Given the description of an element on the screen output the (x, y) to click on. 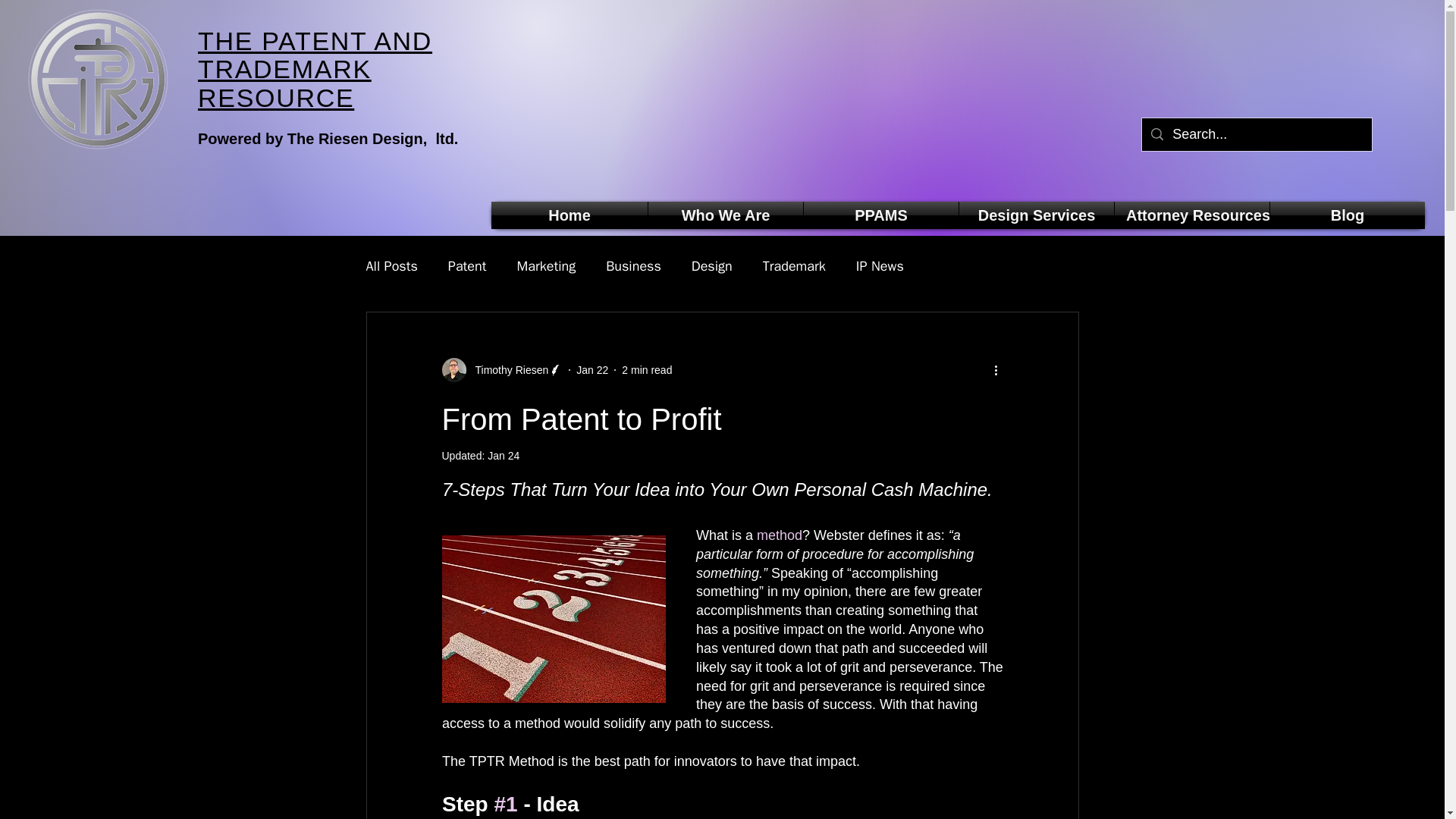
2 min read (646, 369)
Attorney Resources (1192, 215)
THE PATENT AND TRADEMARK RESOURCE (315, 69)
Who We Are (725, 215)
Home (569, 215)
All Posts (390, 266)
Design (711, 266)
Trademark (793, 266)
Business (633, 266)
method (779, 534)
Timothy Riesen (506, 370)
Jan 24 (503, 455)
Blog (1347, 215)
Design Services (1036, 215)
Timothy Riesen (501, 369)
